Given the description of an element on the screen output the (x, y) to click on. 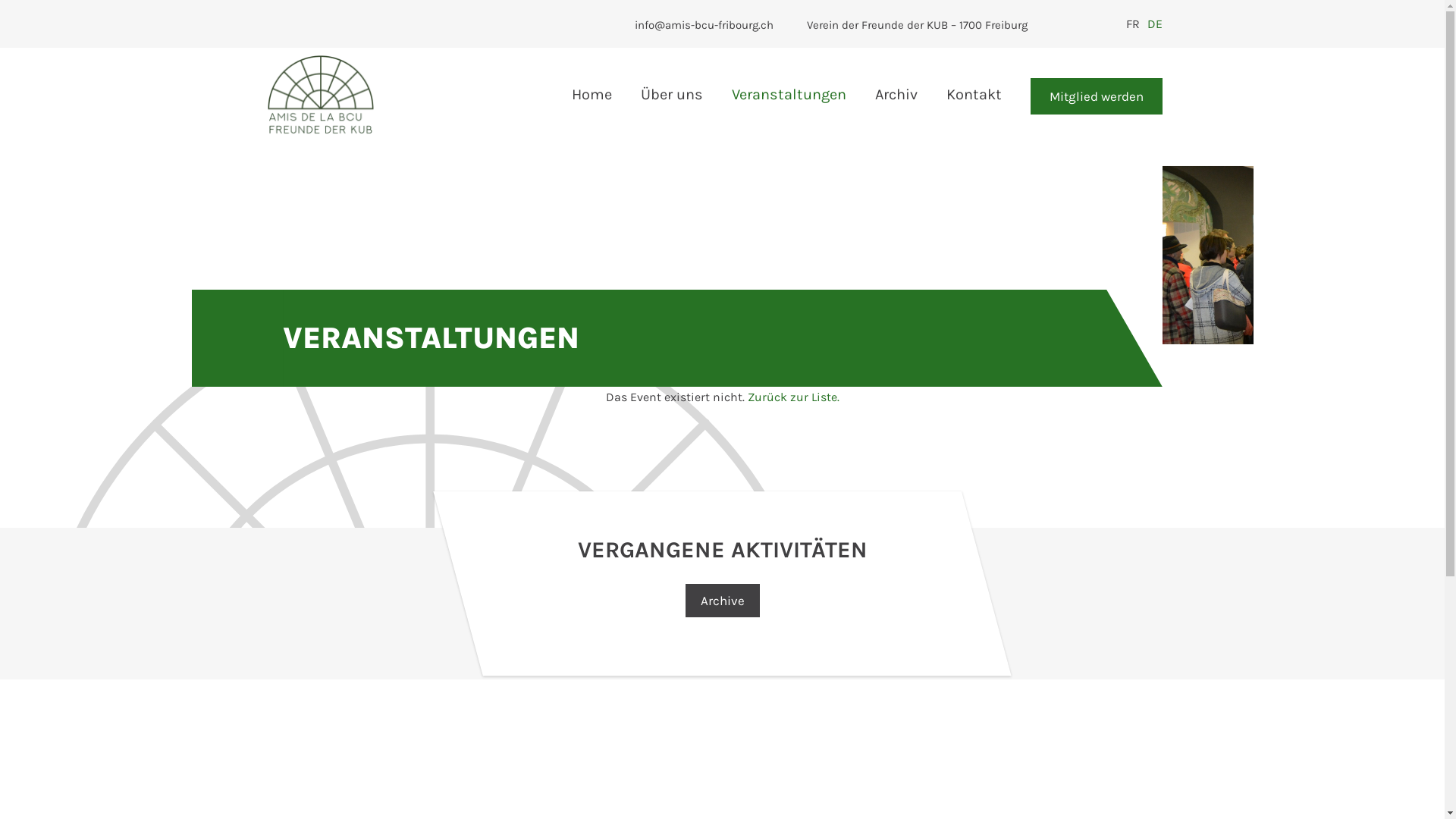
amis-bcu-fribourg.ch Element type: text (319, 94)
FR Element type: text (1128, 23)
Mitglied werden Element type: text (1095, 96)
DE Element type: text (1150, 23)
Kontakt Element type: text (972, 93)
Veranstaltungen Element type: text (788, 93)
info@amis-bcu-fribourg.ch Element type: text (704, 24)
Home Element type: text (591, 93)
Archive Element type: text (722, 600)
Archiv Element type: text (895, 93)
